Given the description of an element on the screen output the (x, y) to click on. 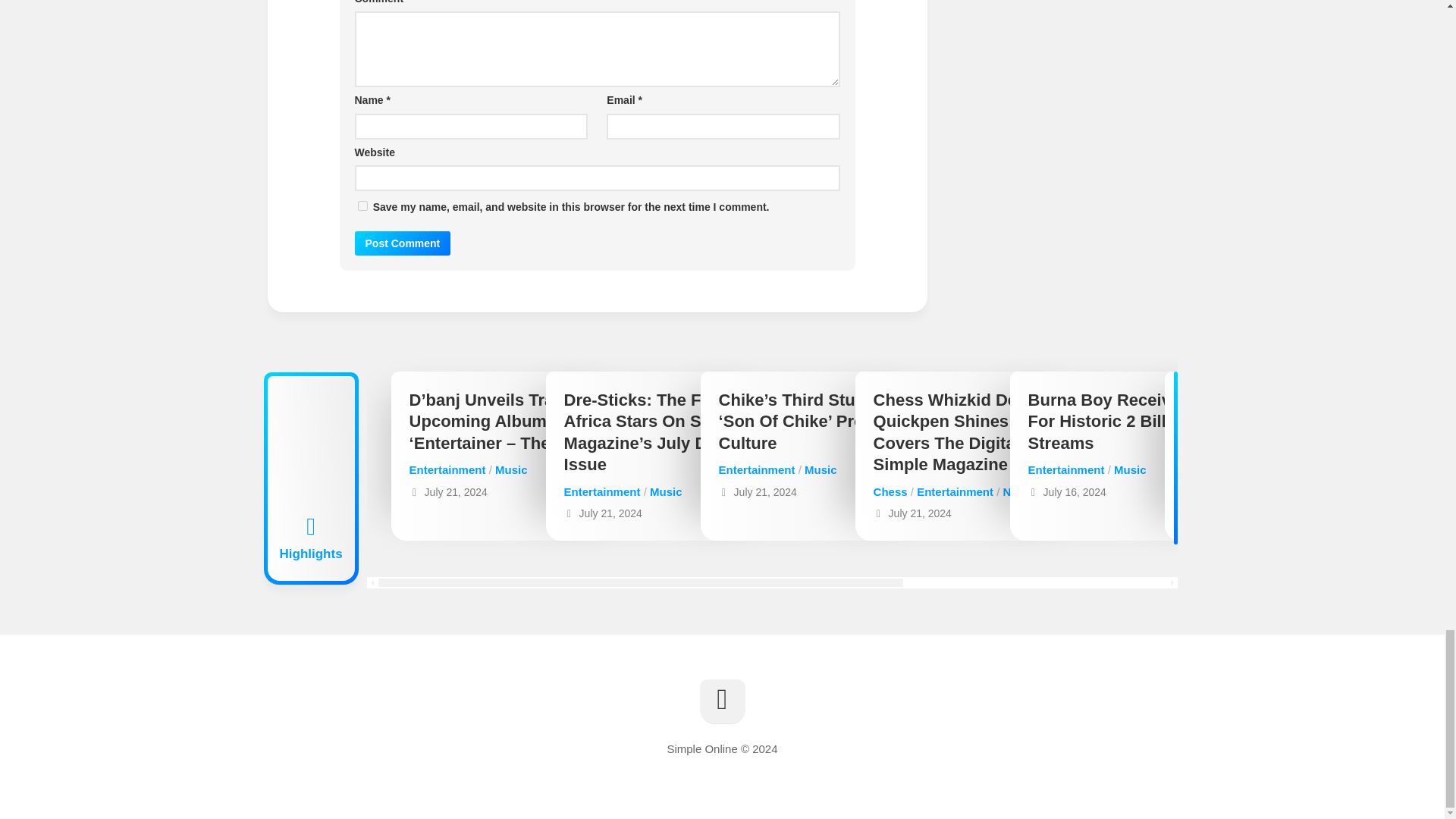
Post Comment (403, 242)
Music (511, 469)
yes (363, 205)
Music (665, 491)
Entertainment (447, 469)
Post Comment (403, 242)
Entertainment (602, 491)
Entertainment (756, 469)
